Given the description of an element on the screen output the (x, y) to click on. 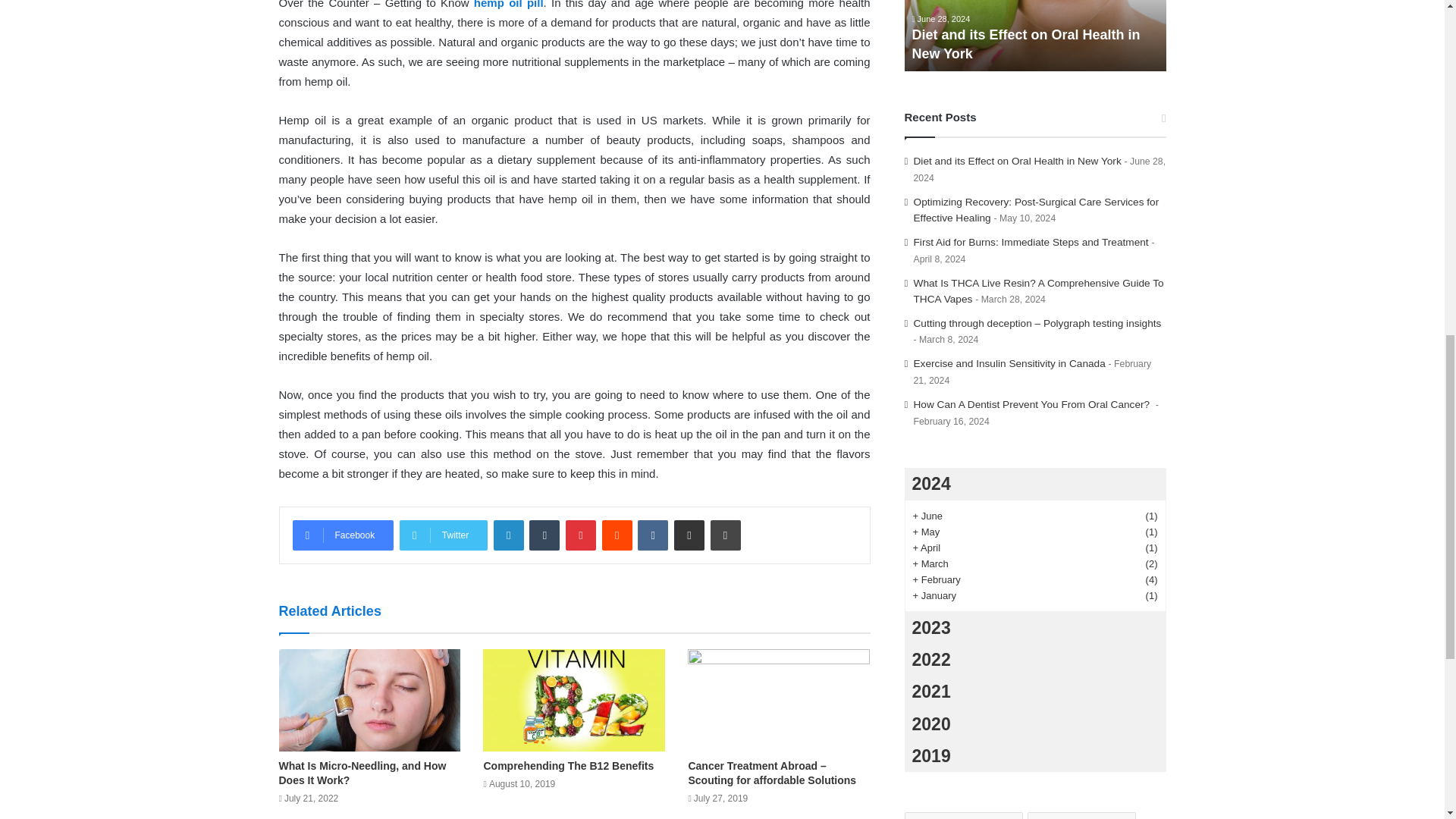
Tumblr (544, 535)
LinkedIn (508, 535)
Twitter (442, 535)
What Is Micro-Needling, and How Does It Work? (362, 773)
LinkedIn (508, 535)
Twitter (442, 535)
Tumblr (544, 535)
Print (725, 535)
Print (725, 535)
Share via Email (689, 535)
